Given the description of an element on the screen output the (x, y) to click on. 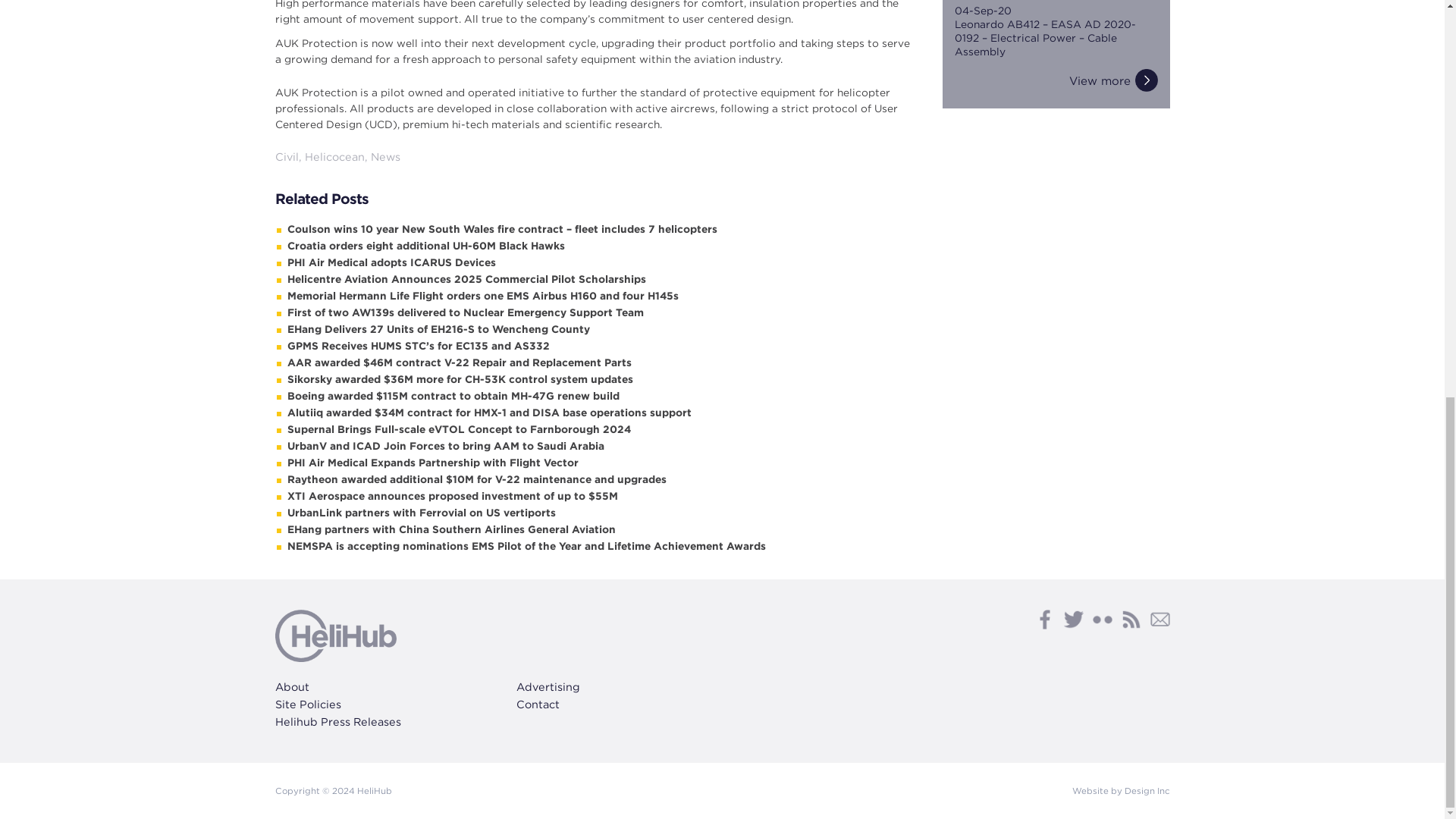
Subscribe (1159, 619)
Facebook (1043, 619)
Flickr (1102, 619)
Twitter (1072, 619)
RSS (1130, 619)
Helihub (335, 634)
